Given the description of an element on the screen output the (x, y) to click on. 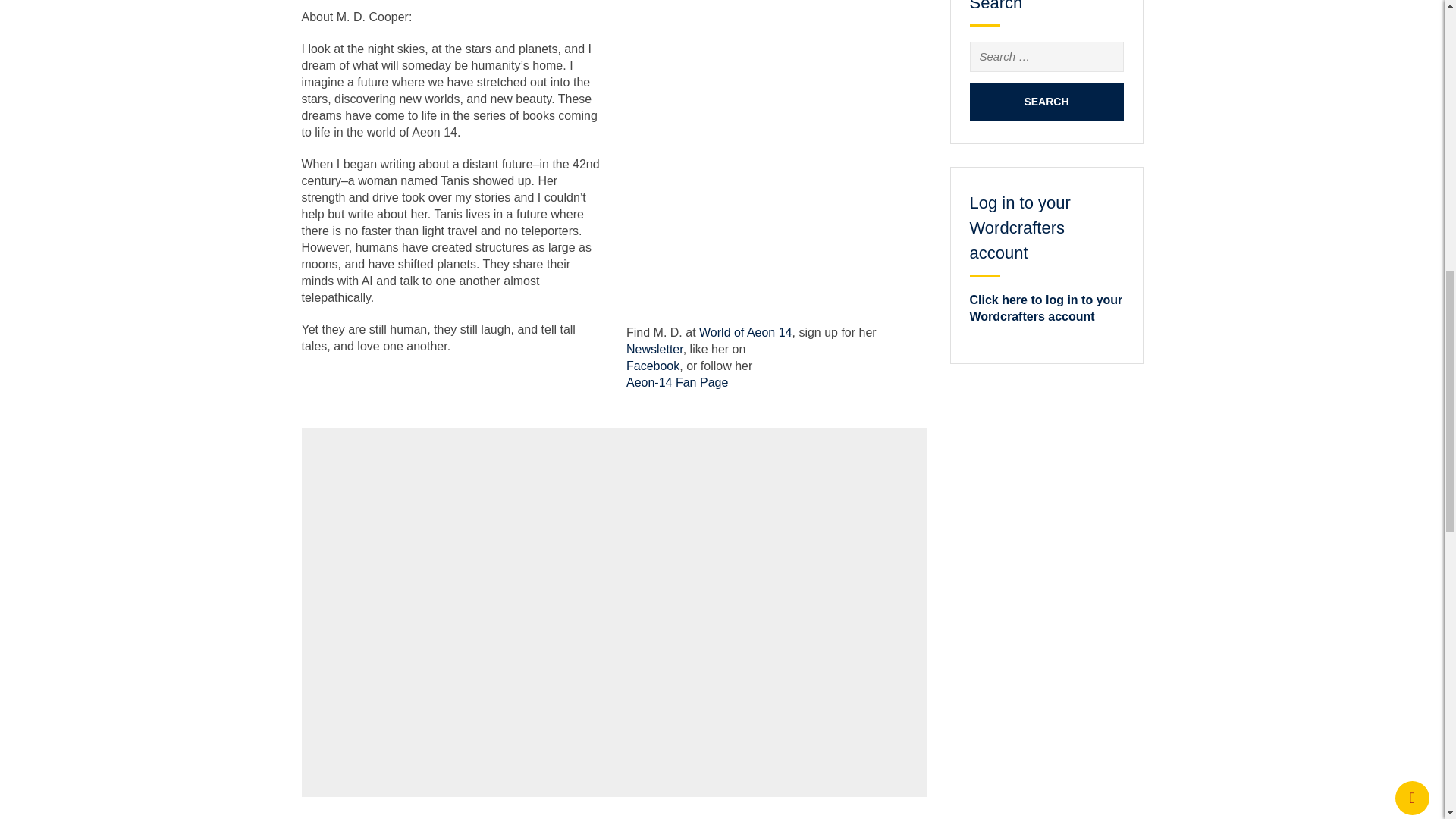
Search (1045, 101)
Search (1045, 101)
